Given the description of an element on the screen output the (x, y) to click on. 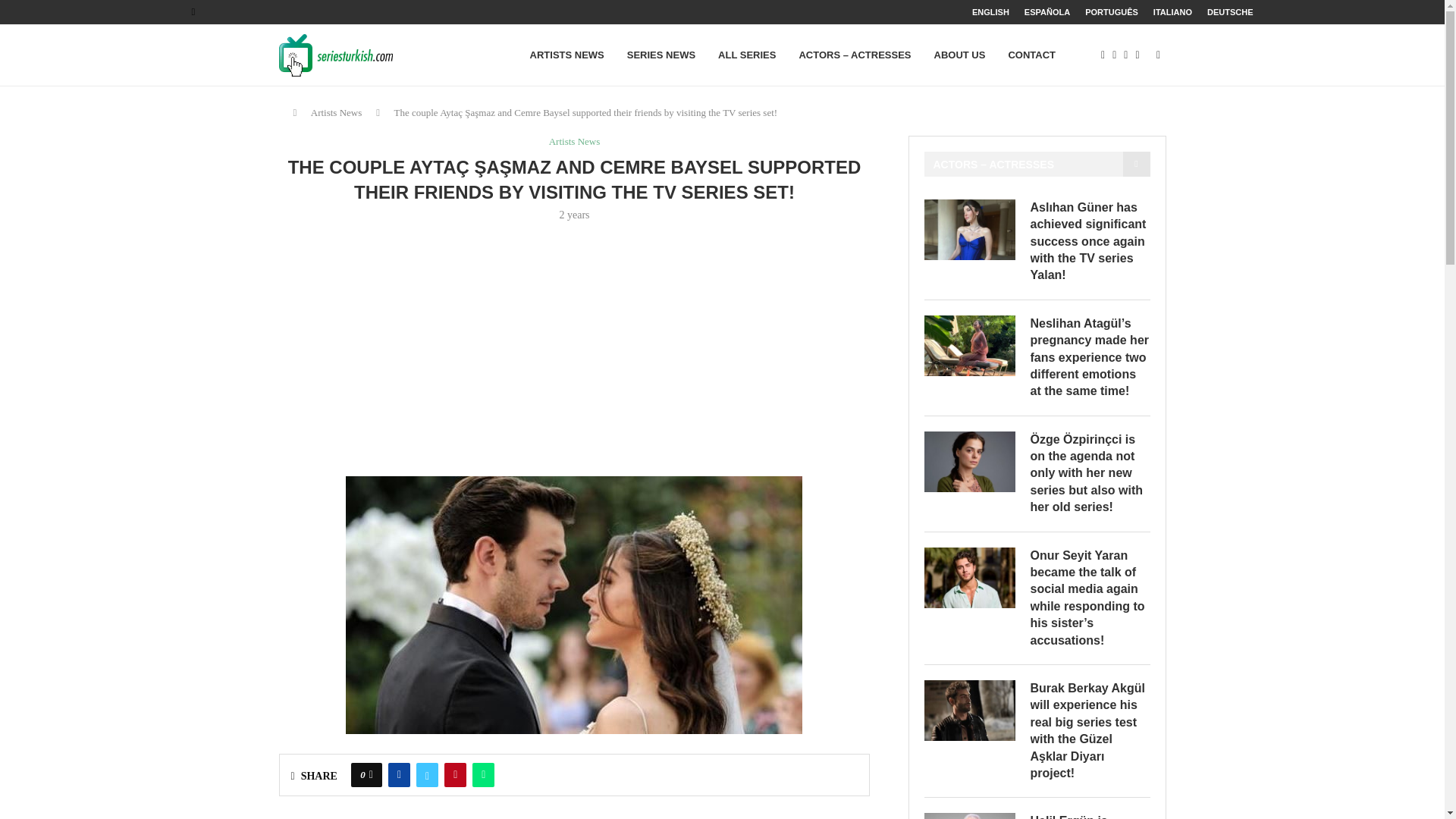
SERIES NEWS (661, 55)
Artists News (336, 112)
ITALIANO (1172, 12)
ALL SERIES (746, 55)
Artists News (573, 141)
ENGLISH (990, 12)
Advertisement (574, 346)
ARTISTS NEWS (566, 55)
DEUTSCHE (1230, 12)
